Given the description of an element on the screen output the (x, y) to click on. 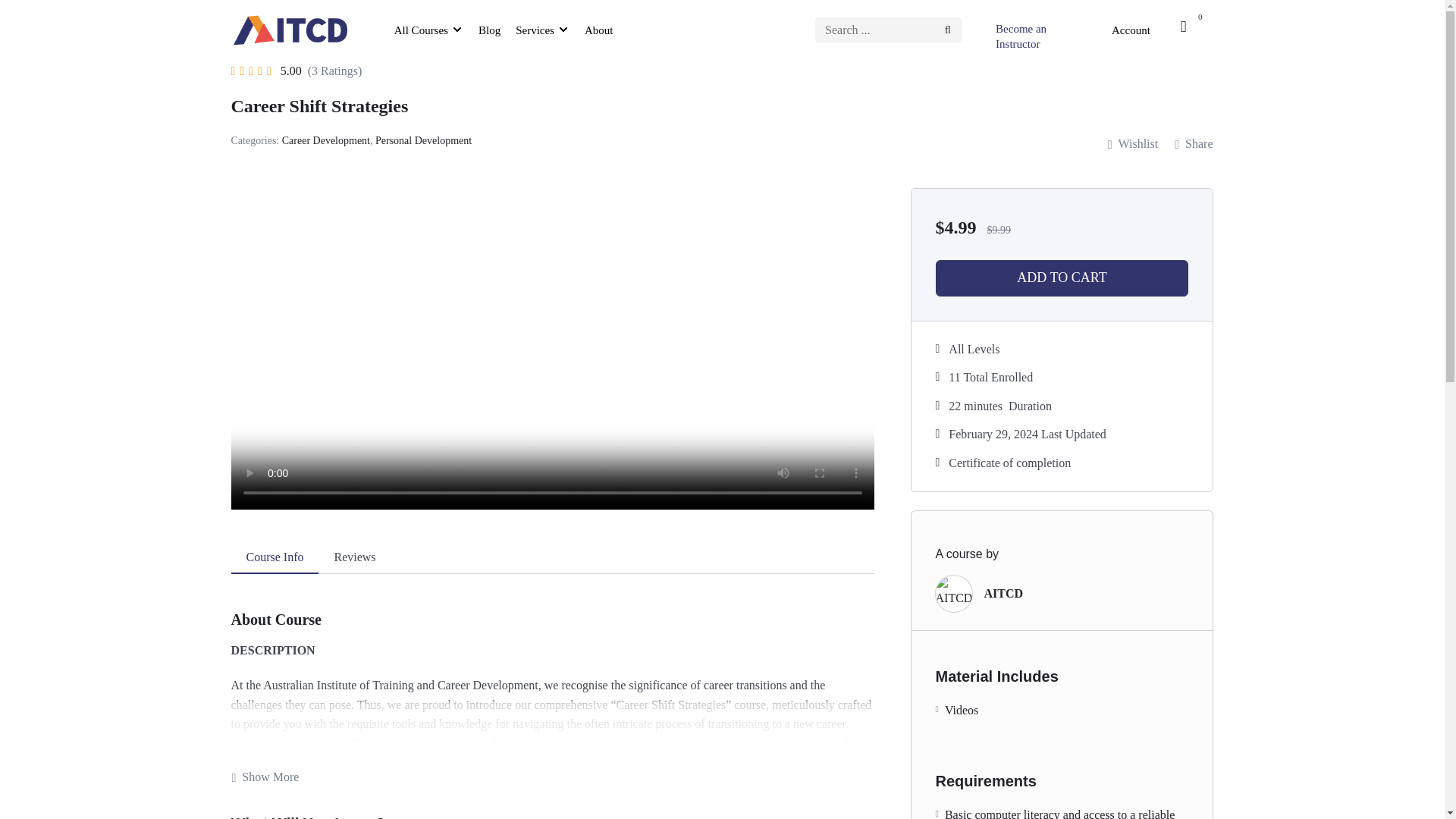
Services (535, 30)
Account (15, 288)
Blog (489, 30)
All Courses (418, 30)
